Given the description of an element on the screen output the (x, y) to click on. 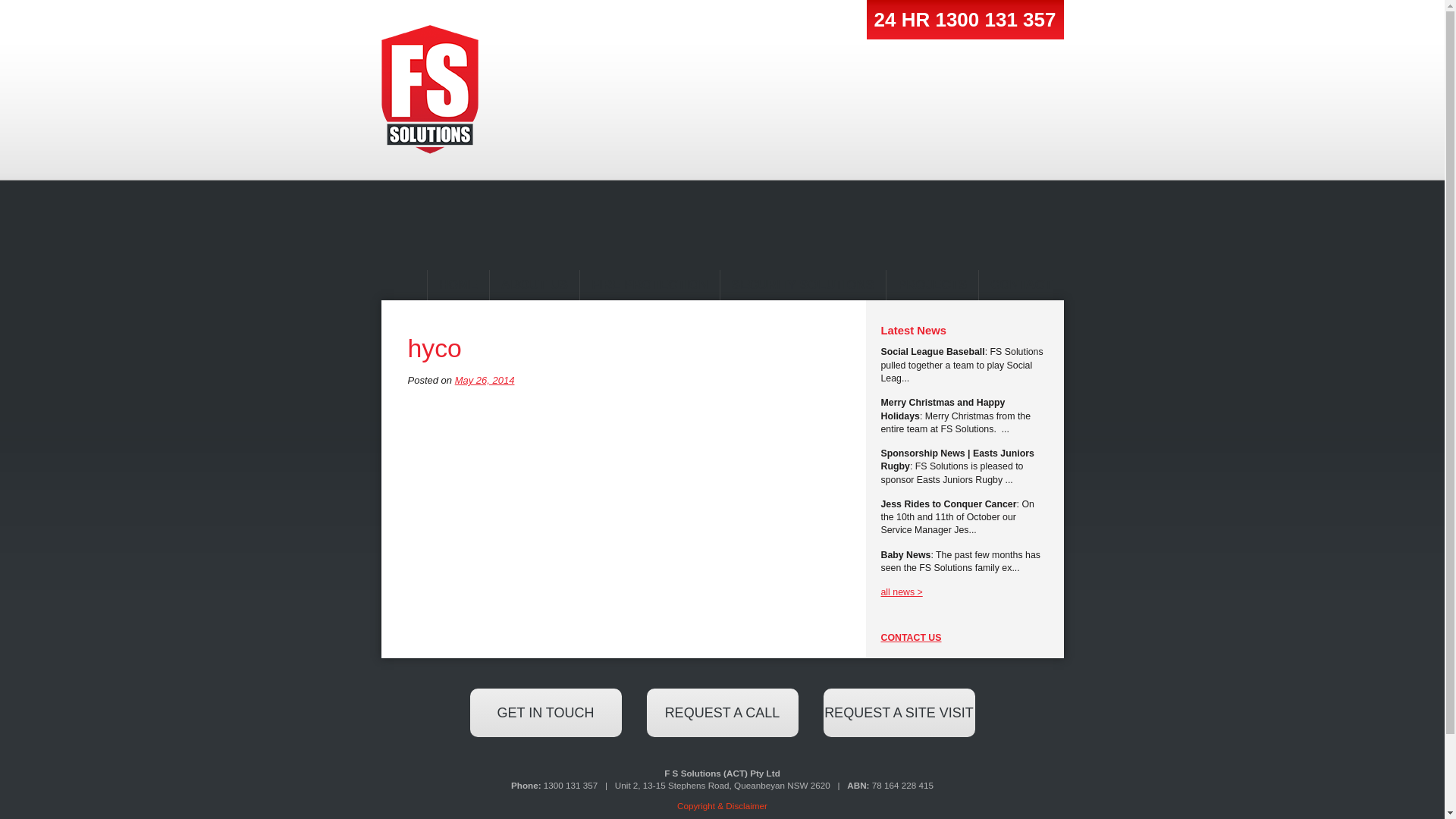
REQUEST A SITE VISIT Element type: text (899, 712)
Sponsorship News | Easts Juniors Rugby Element type: text (957, 459)
FIRE PROTECTION Element type: text (649, 284)
Merry Christmas and Happy Holidays Element type: text (943, 408)
Copyright & Disclaimer Element type: text (722, 805)
PROJECTS Element type: text (931, 284)
Social League Baseball Element type: text (933, 351)
Baby News Element type: text (906, 554)
Jess Rides to Conquer Cancer Element type: text (948, 503)
SECURITY SOLUTIONS Element type: text (802, 284)
ABOUT US Element type: text (534, 284)
May 26, 2014 Element type: text (484, 379)
GET IN TOUCH Element type: text (545, 712)
HOME Element type: text (457, 284)
REQUEST A CALL Element type: text (721, 712)
all news > Element type: text (901, 591)
CONTACT US Element type: text (911, 637)
CONTACT Element type: text (1020, 284)
